Given the description of an element on the screen output the (x, y) to click on. 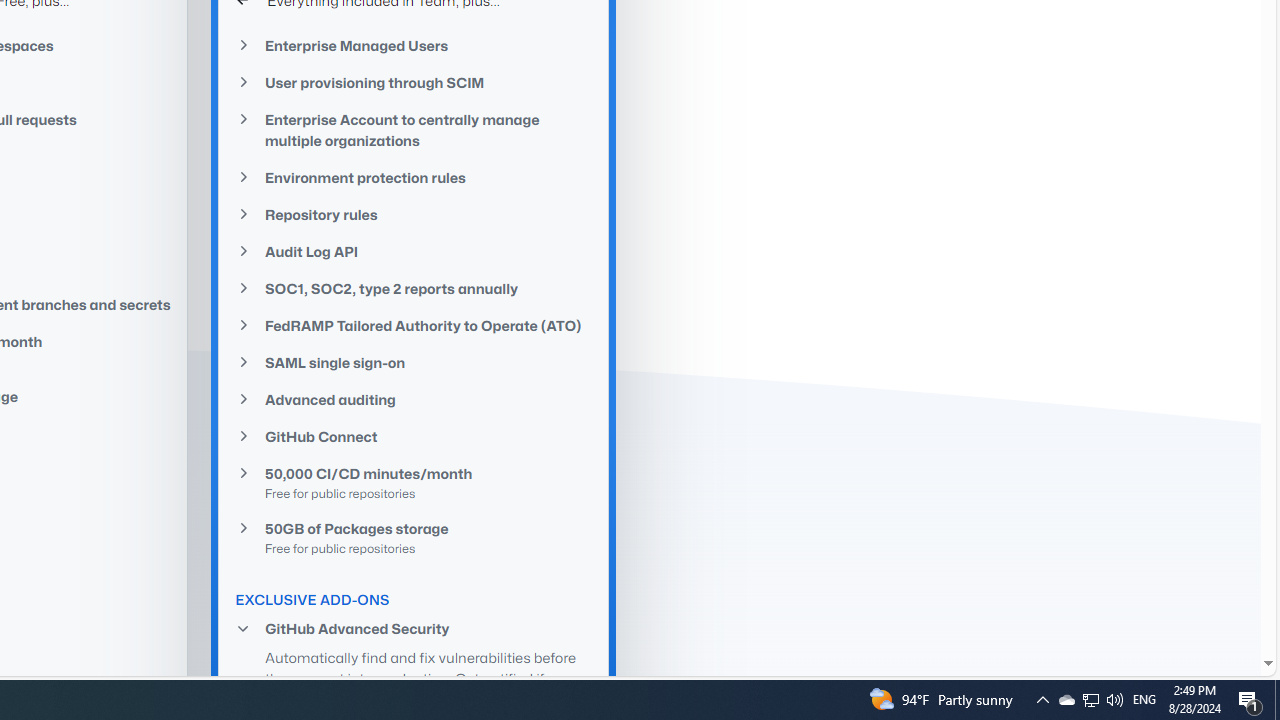
Enterprise Managed Users (413, 45)
Audit Log API (413, 251)
User provisioning through SCIM (413, 83)
Repository rules (413, 214)
50GB of Packages storageFree for public repositories (413, 537)
GitHub Connect (413, 435)
SAML single sign-on (413, 362)
Repository rules (413, 214)
50,000 CI/CD minutes/month Free for public repositories (413, 483)
GitHub Connect (413, 436)
SOC1, SOC2, type 2 reports annually (413, 289)
